Given the description of an element on the screen output the (x, y) to click on. 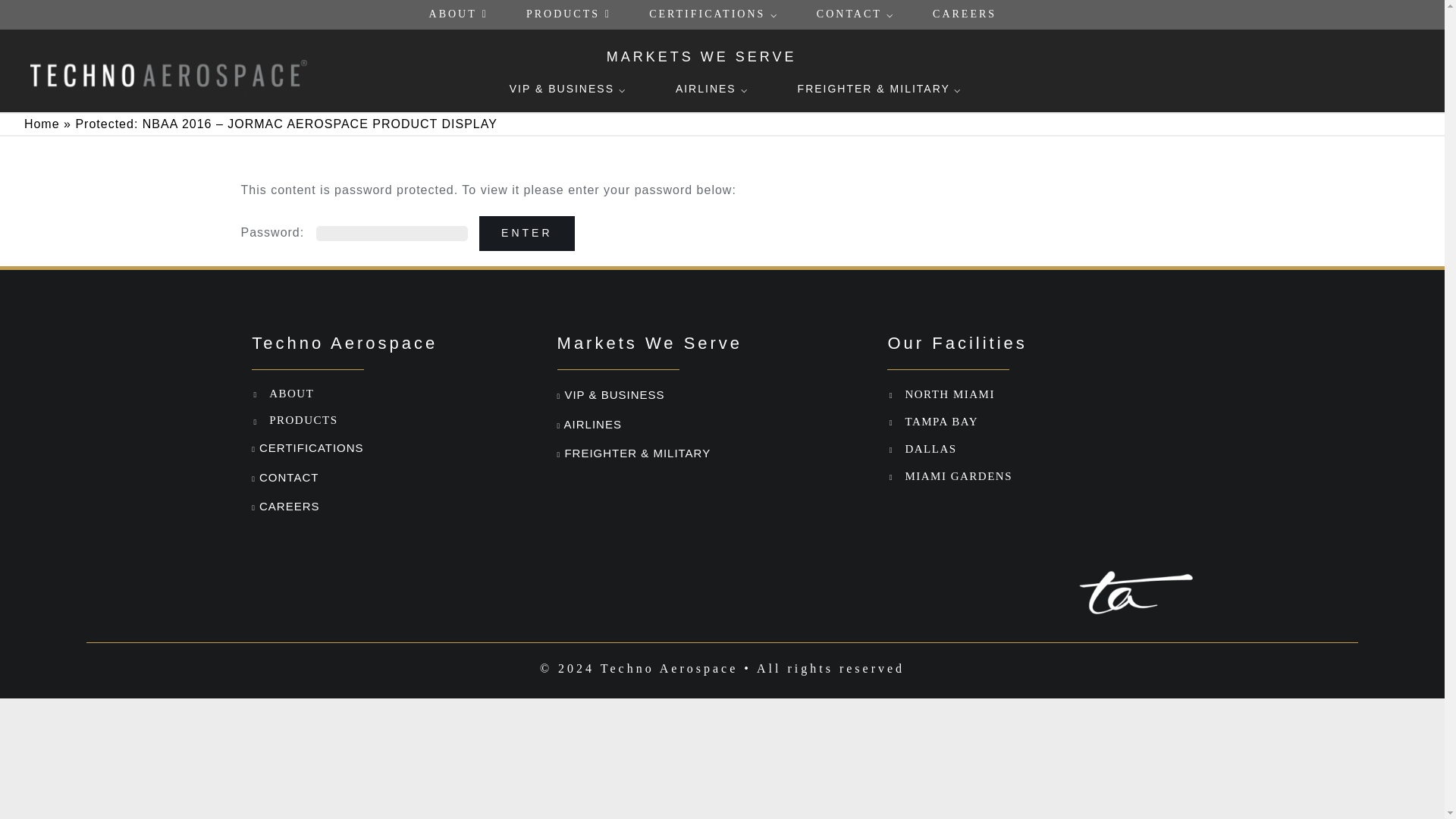
PRODUCTS (568, 14)
ABOUT (458, 14)
CAREERS (964, 14)
Enter (526, 233)
